Given the description of an element on the screen output the (x, y) to click on. 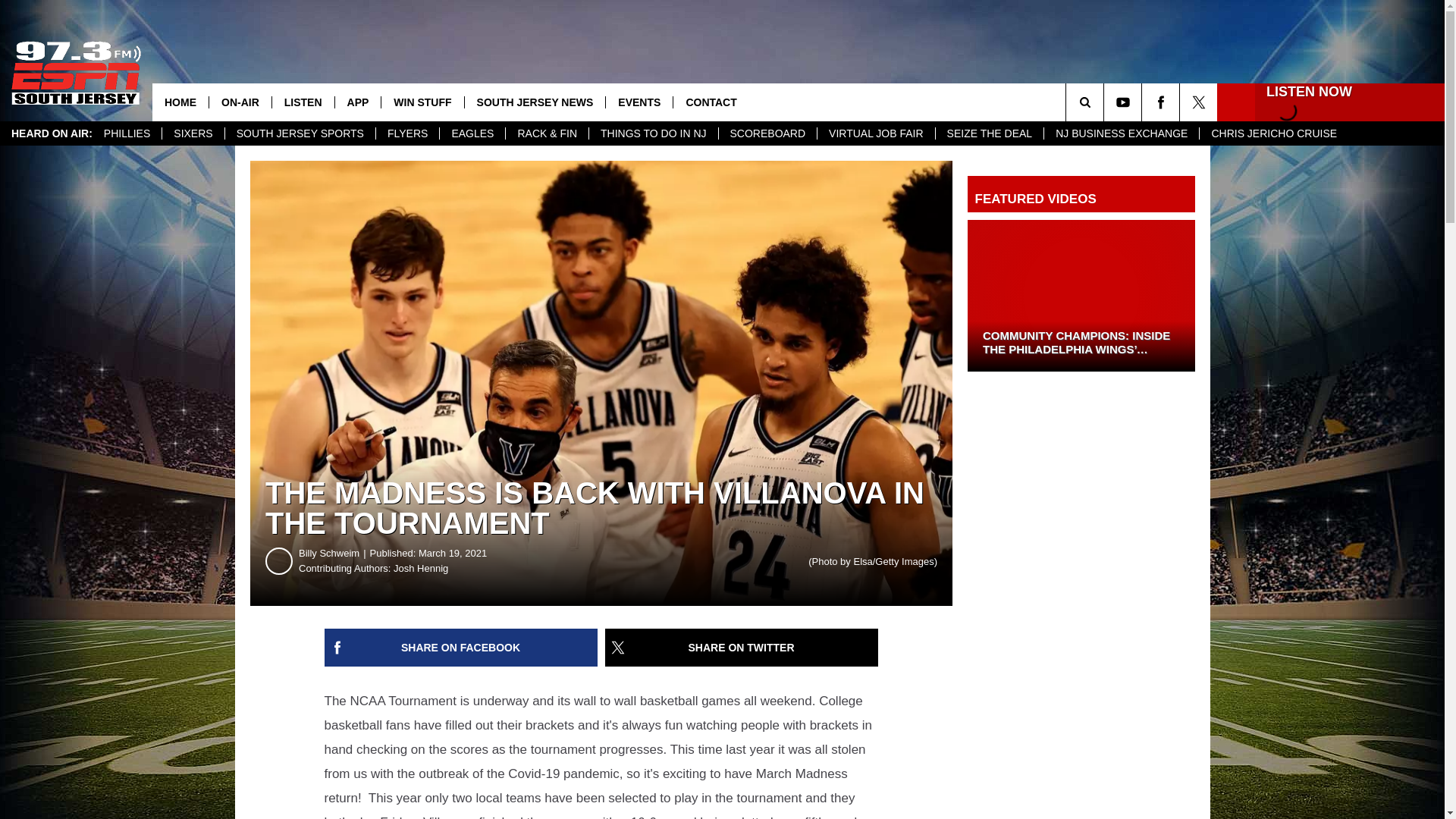
ON-AIR (239, 102)
SEIZE THE DEAL (988, 133)
FLYERS (407, 133)
CHRIS JERICHO CRUISE (1273, 133)
EAGLES (472, 133)
THINGS TO DO IN NJ (652, 133)
HOME (180, 102)
APP (357, 102)
SOUTH JERSEY NEWS (534, 102)
VIRTUAL JOB FAIR (875, 133)
